Given the description of an element on the screen output the (x, y) to click on. 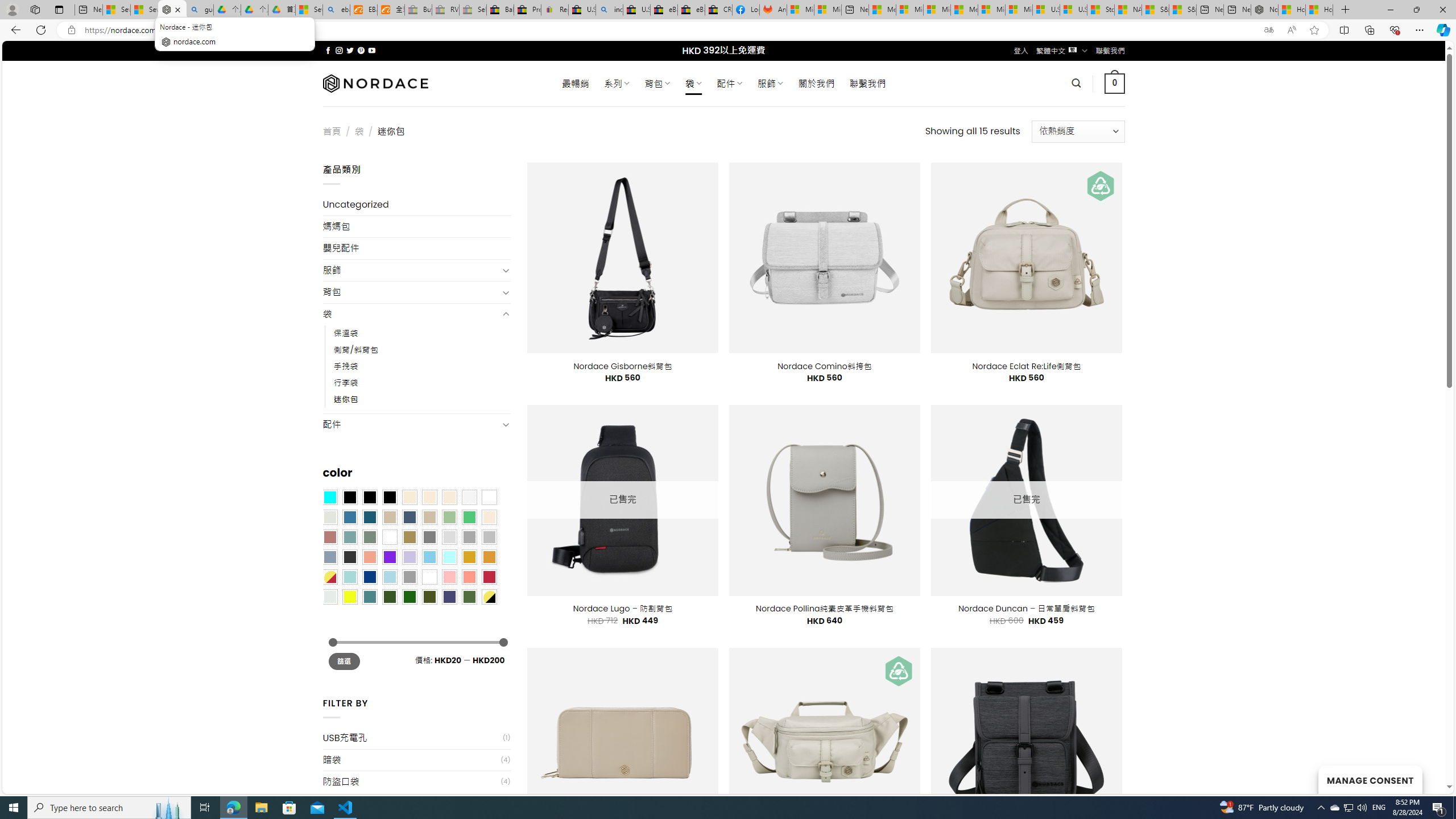
Uncategorized (416, 204)
